Given the description of an element on the screen output the (x, y) to click on. 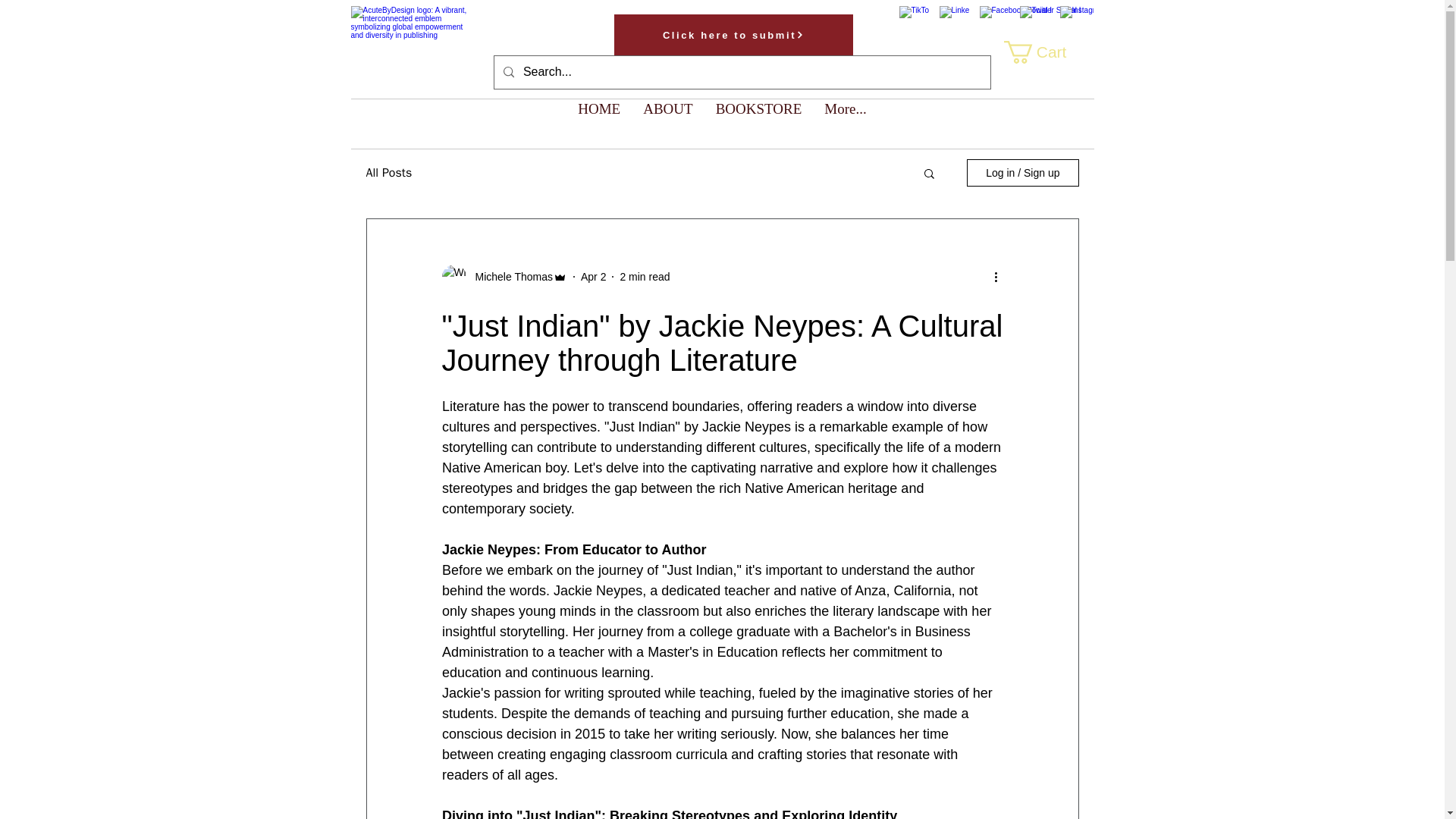
All Posts (388, 172)
ABOUT (667, 123)
Cart (1046, 51)
BOOKSTORE (758, 123)
2 min read (644, 275)
Apr 2 (592, 275)
Michele Thomas (508, 276)
HOME (598, 123)
Cart (1046, 51)
Click here to submit (733, 34)
